Given the description of an element on the screen output the (x, y) to click on. 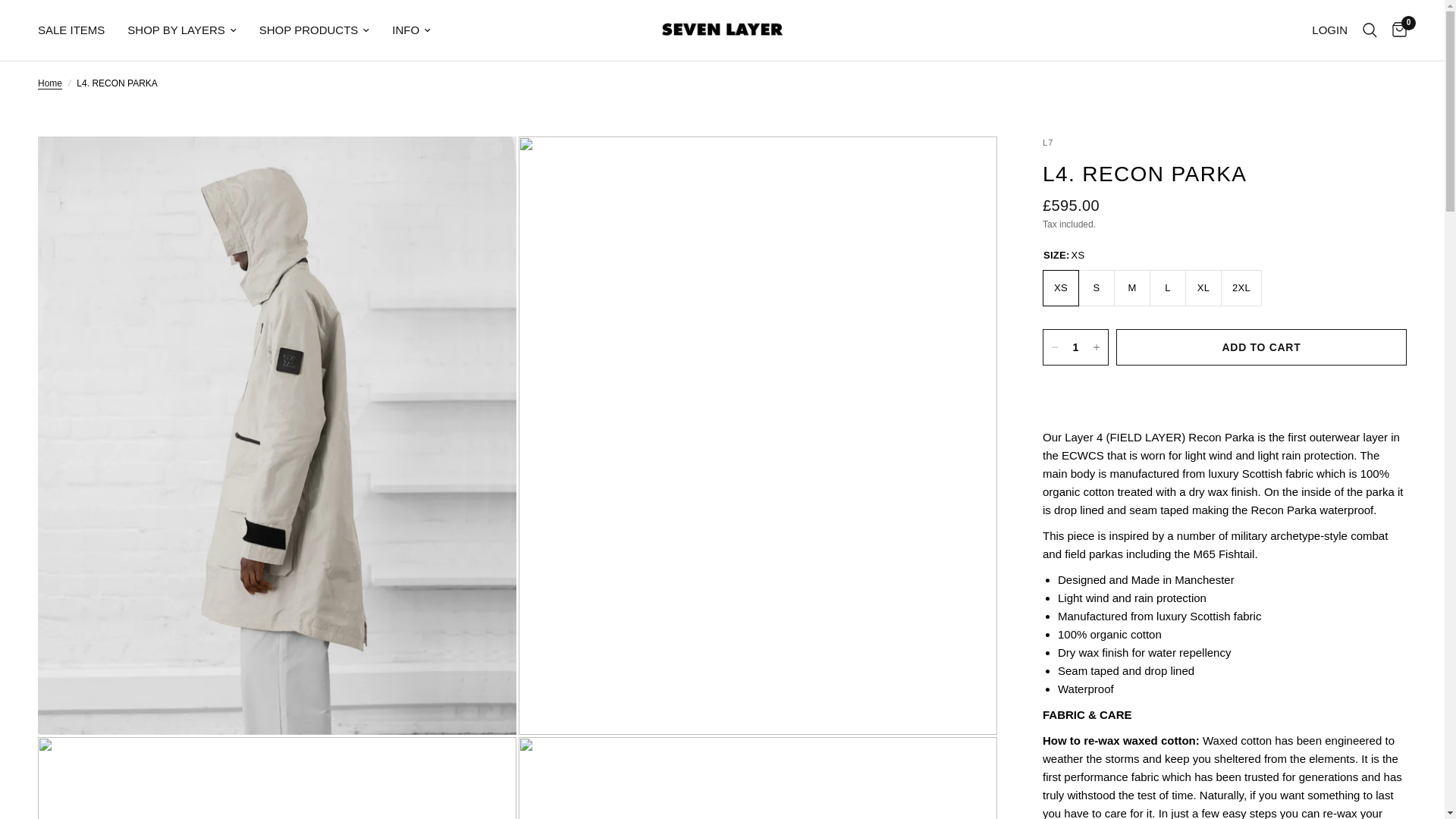
1 (1074, 347)
SALE ITEMS (70, 30)
SHOP BY LAYERS (181, 30)
